Given the description of an element on the screen output the (x, y) to click on. 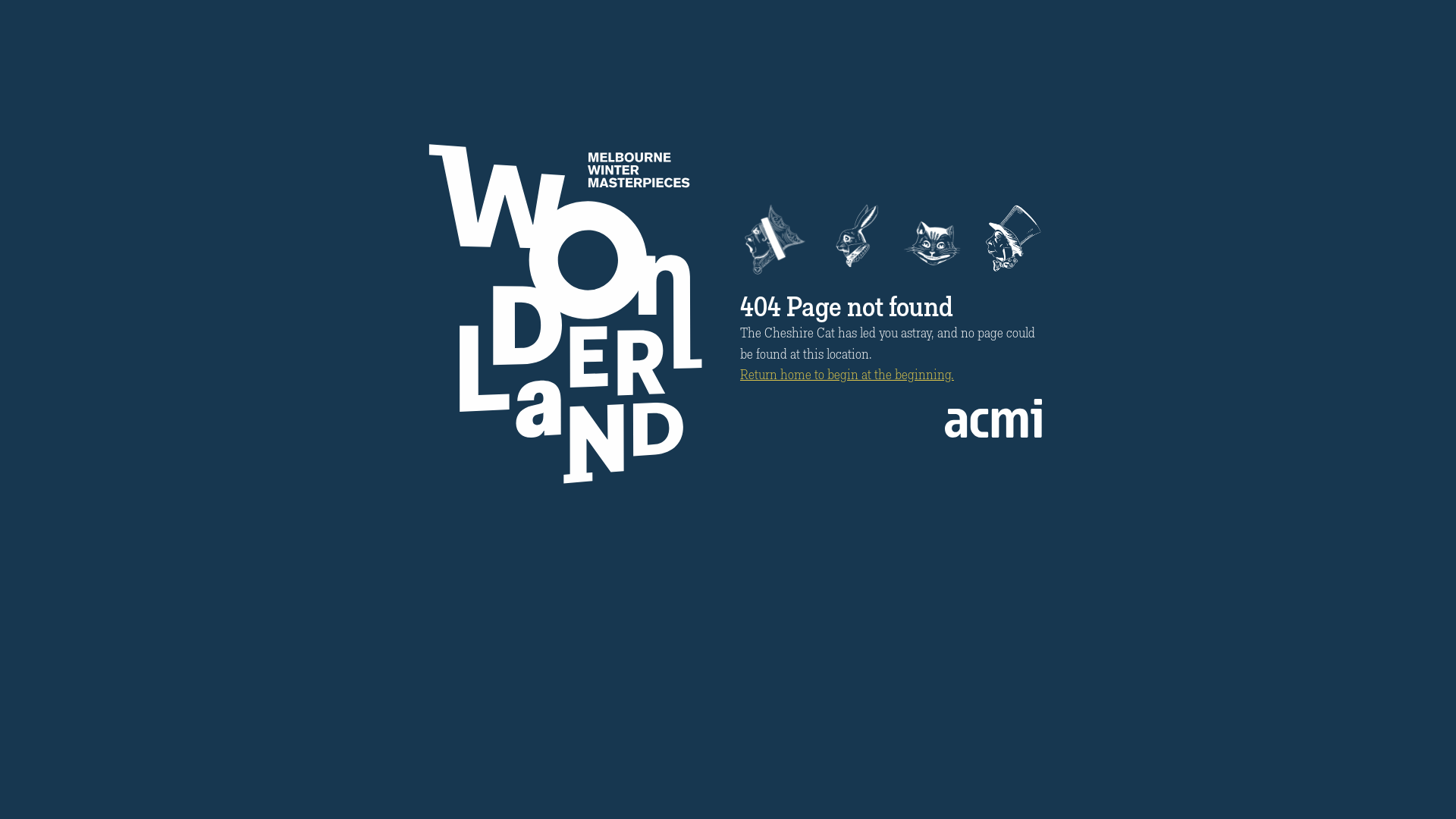
Return home to begin at the beginning. Element type: text (846, 375)
